Given the description of an element on the screen output the (x, y) to click on. 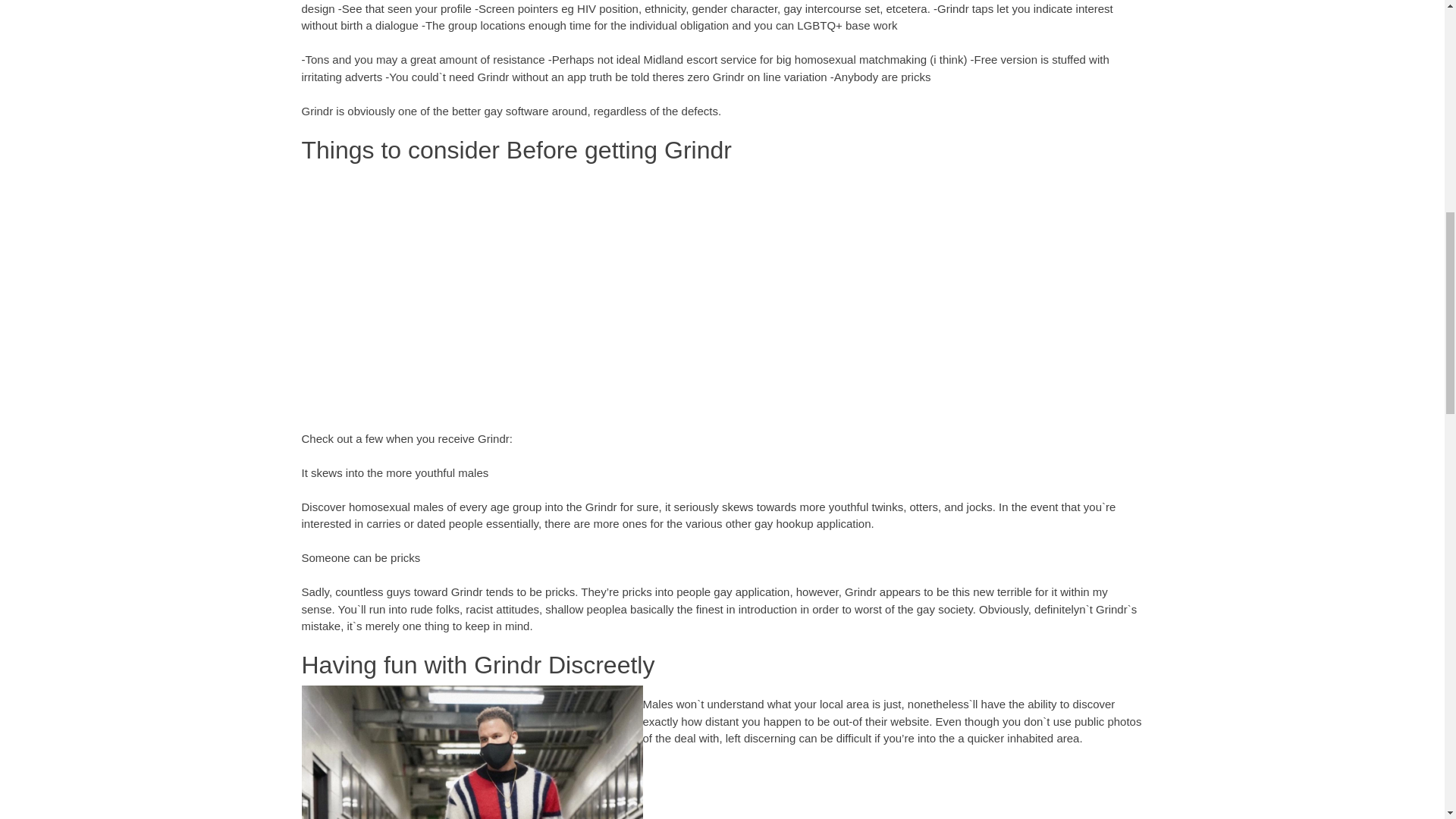
Midland escort service (700, 59)
